Given the description of an element on the screen output the (x, y) to click on. 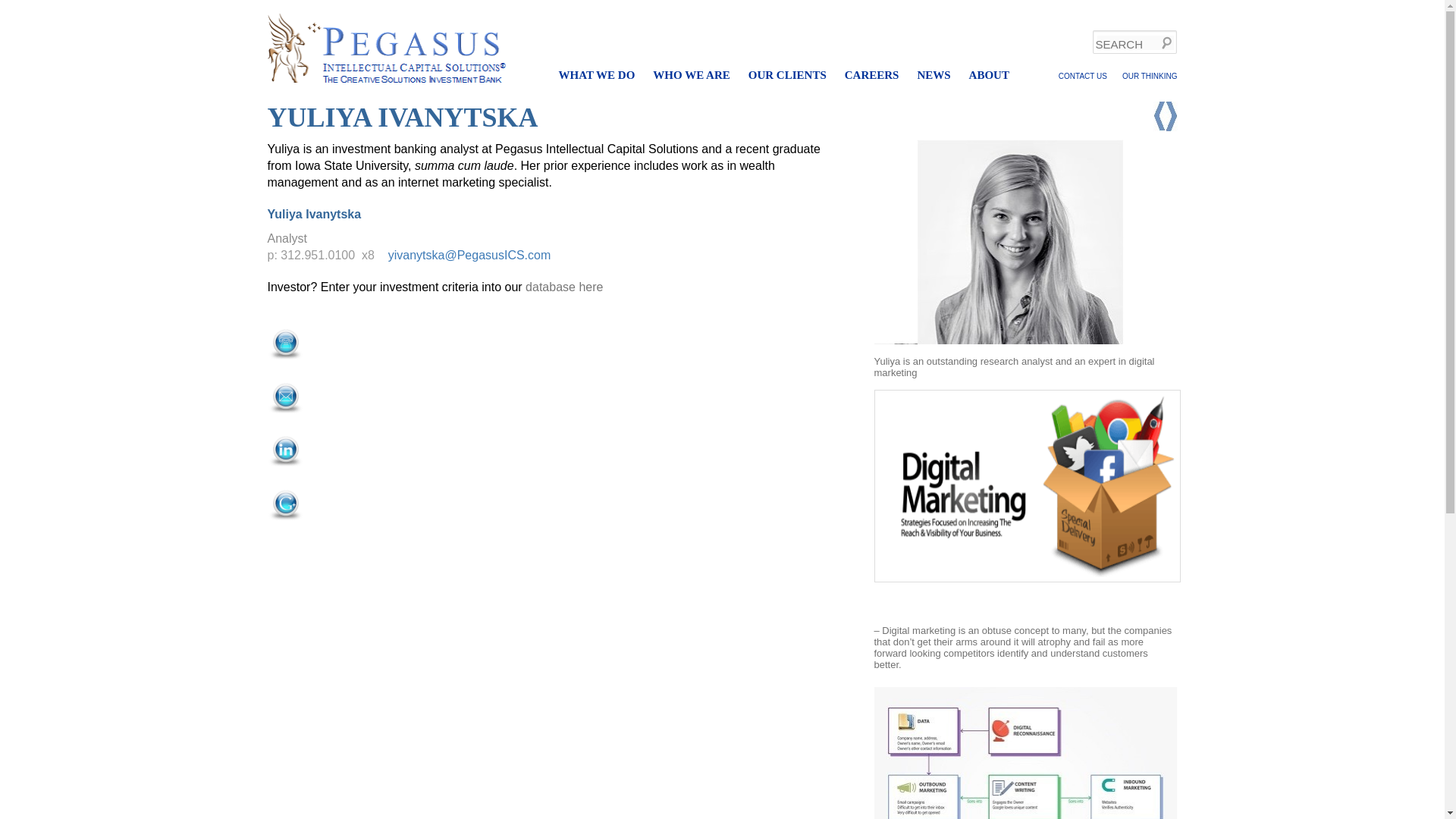
Email Icon (284, 396)
WHO WE ARE (690, 74)
Yuliya Ivanystska (1022, 241)
Home (385, 47)
Search (24, 8)
WHAT WE DO (595, 74)
